Given the description of an element on the screen output the (x, y) to click on. 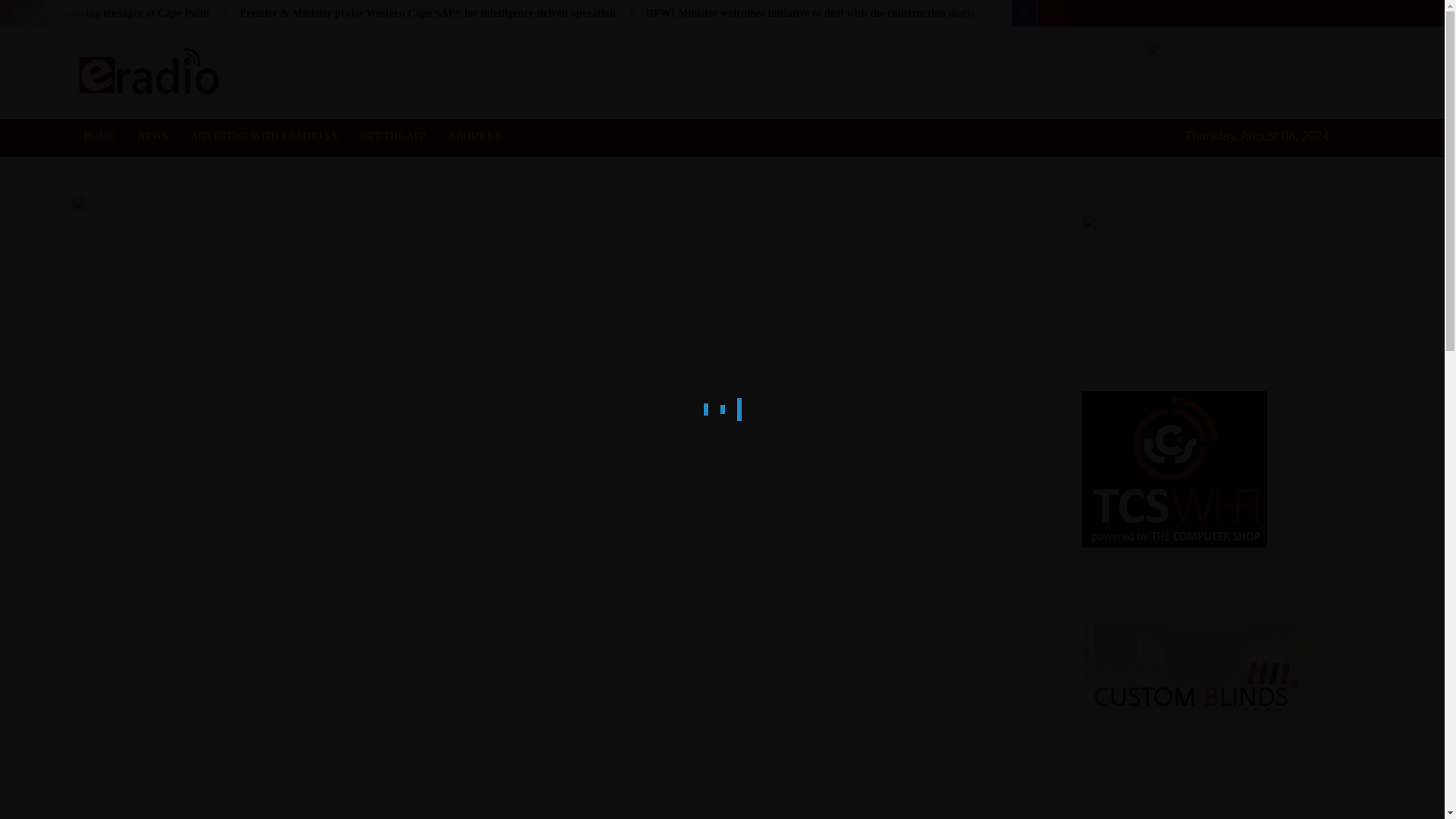
HOME (98, 135)
youtube (1051, 13)
ADVERTISE WITH ERADIO SA (264, 135)
GET THE APP (393, 135)
ERADIO (297, 89)
NEWS (152, 135)
ABOUT US (474, 135)
No sign of missing teenager at Cape Point (111, 12)
facebook (1024, 13)
